Given the description of an element on the screen output the (x, y) to click on. 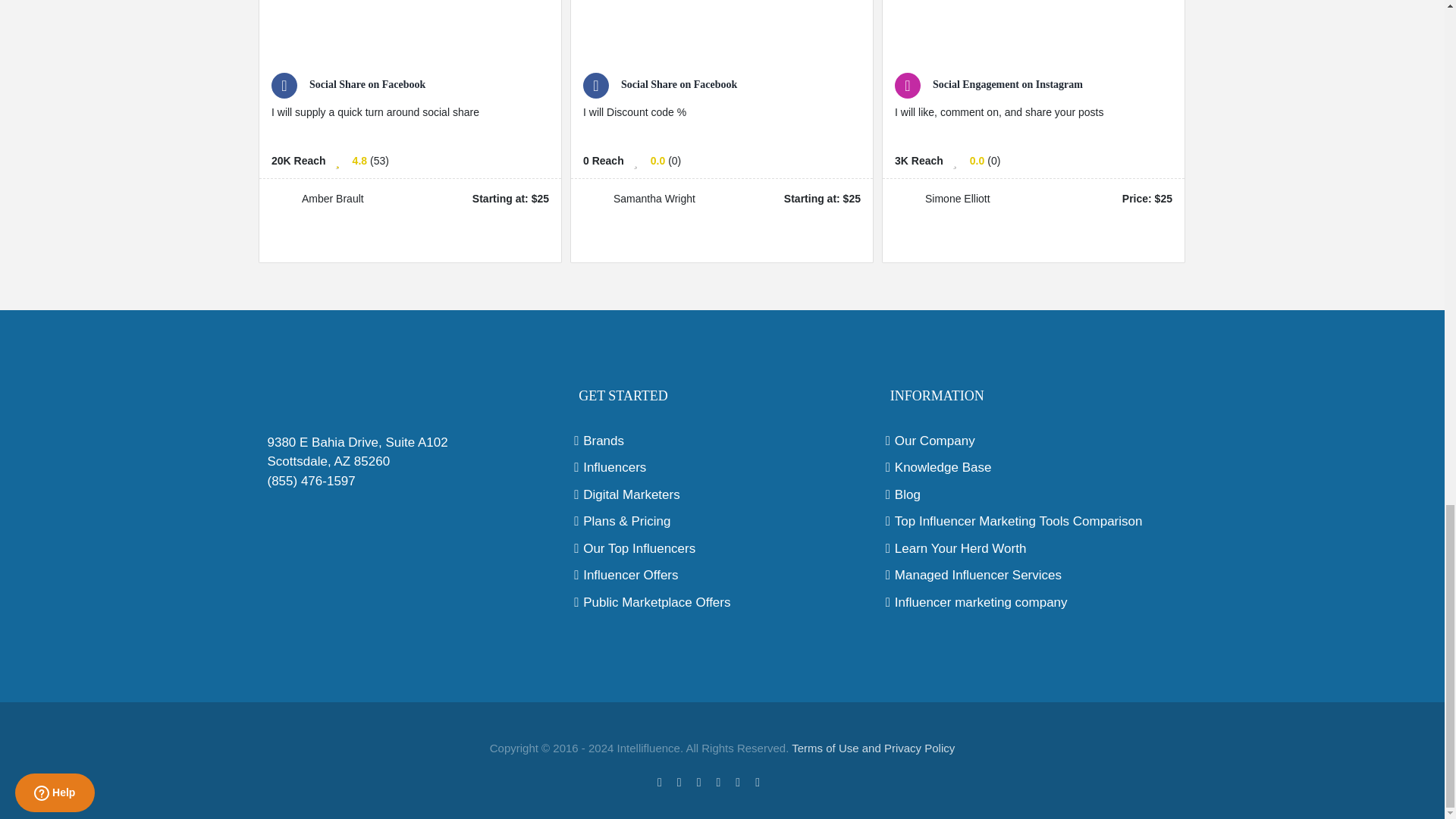
TikTok (780, 779)
Number of reviews (378, 160)
Top Influencer Marketing Tools Comparison (1034, 521)
Influencers (722, 467)
Public Marketplace Offers (722, 602)
Digital Marketers (722, 495)
Our Top Influencers (722, 548)
Managed Influencer Services (1034, 575)
Our Company (1034, 441)
Star rating out of 5 (657, 160)
